Given the description of an element on the screen output the (x, y) to click on. 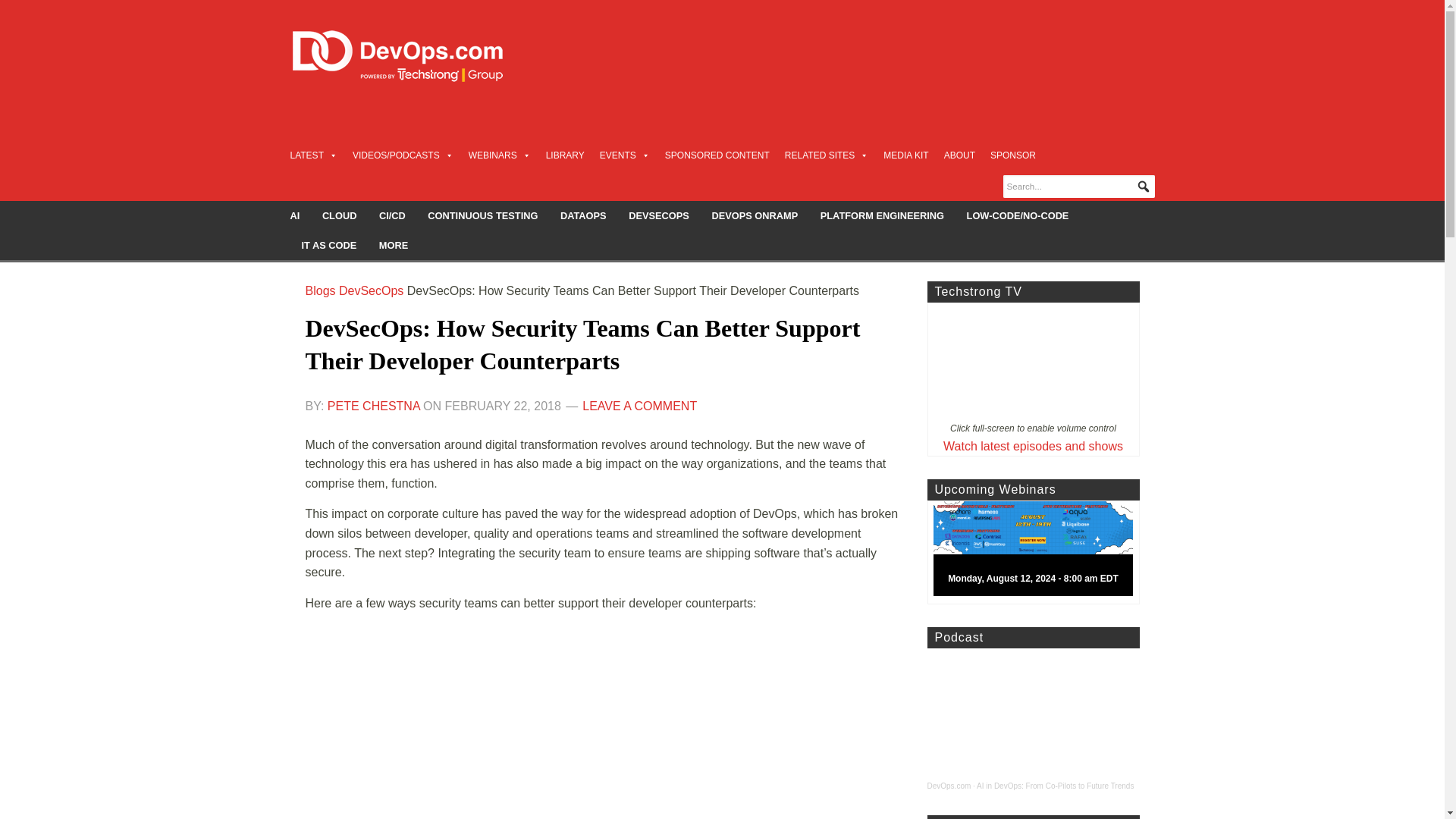
LATEST (312, 155)
EVENTS (624, 155)
Monday, August 12, 2024 - 8:00 am EDT (1038, 552)
AI in DevOps: From Co-Pilots to Future Trends (1055, 786)
DEVOPS.COM (414, 56)
RELATED SITES (825, 155)
DevOps.com (948, 786)
SPONSORED CONTENT (717, 155)
LIBRARY (565, 155)
WEBINARS (499, 155)
